Given the description of an element on the screen output the (x, y) to click on. 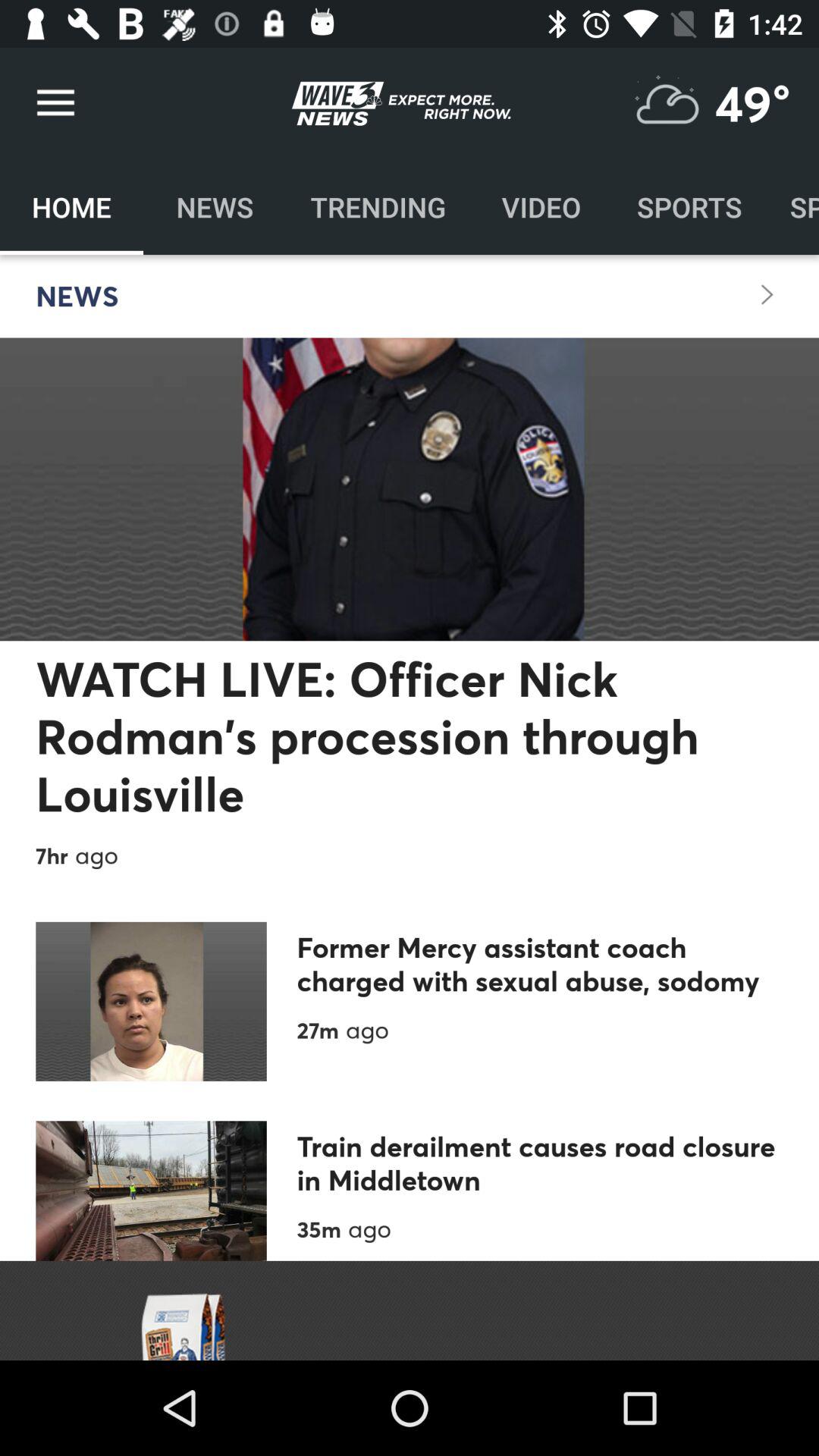
show weather report (666, 103)
